Given the description of an element on the screen output the (x, y) to click on. 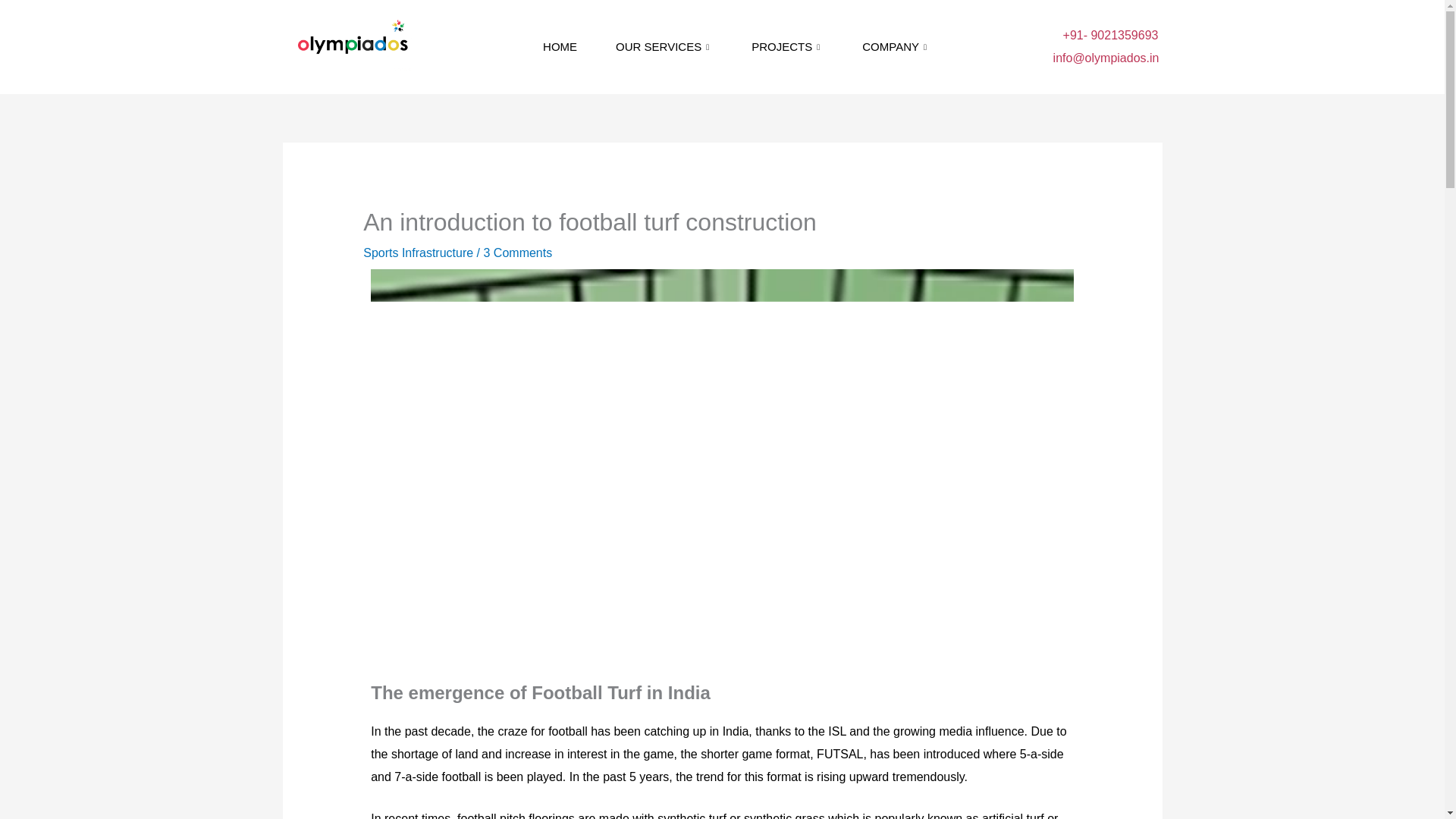
COMPANY (896, 46)
Sports Infrastructure (417, 252)
PROJECTS (787, 46)
OUR SERVICES (664, 46)
